Given the description of an element on the screen output the (x, y) to click on. 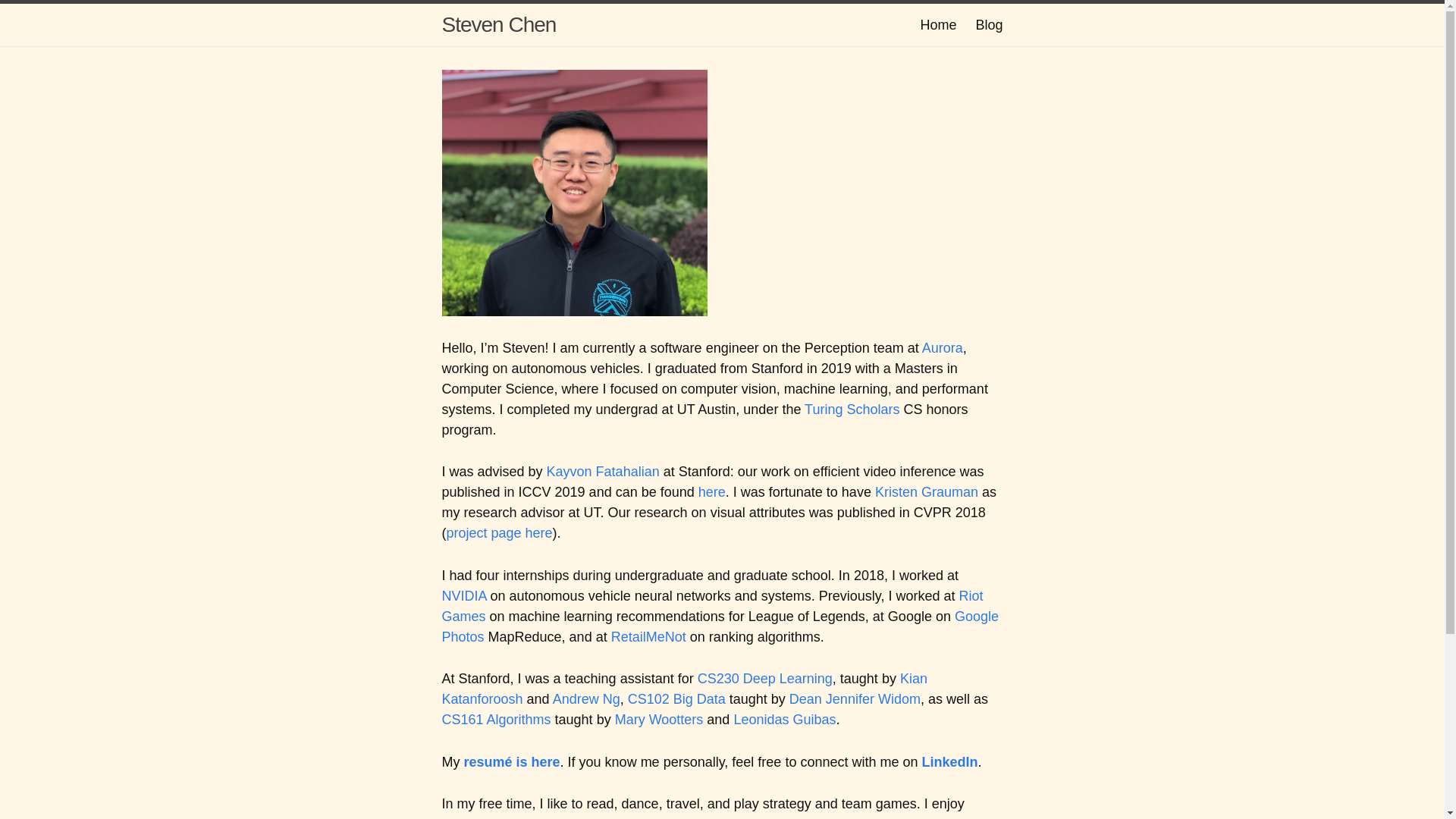
Andrew Ng (586, 698)
Leonidas Guibas (784, 719)
LinkedIn (948, 761)
Google Photos (719, 626)
Blog (989, 24)
NVIDIA (463, 595)
CS102 Big Data (676, 698)
thinking about architecture (521, 817)
CS161 Algorithms (495, 719)
Home (938, 24)
Kayvon Fatahalian (603, 471)
Mary Wootters (658, 719)
project page here (498, 532)
Riot Games (711, 606)
here (711, 491)
